Given the description of an element on the screen output the (x, y) to click on. 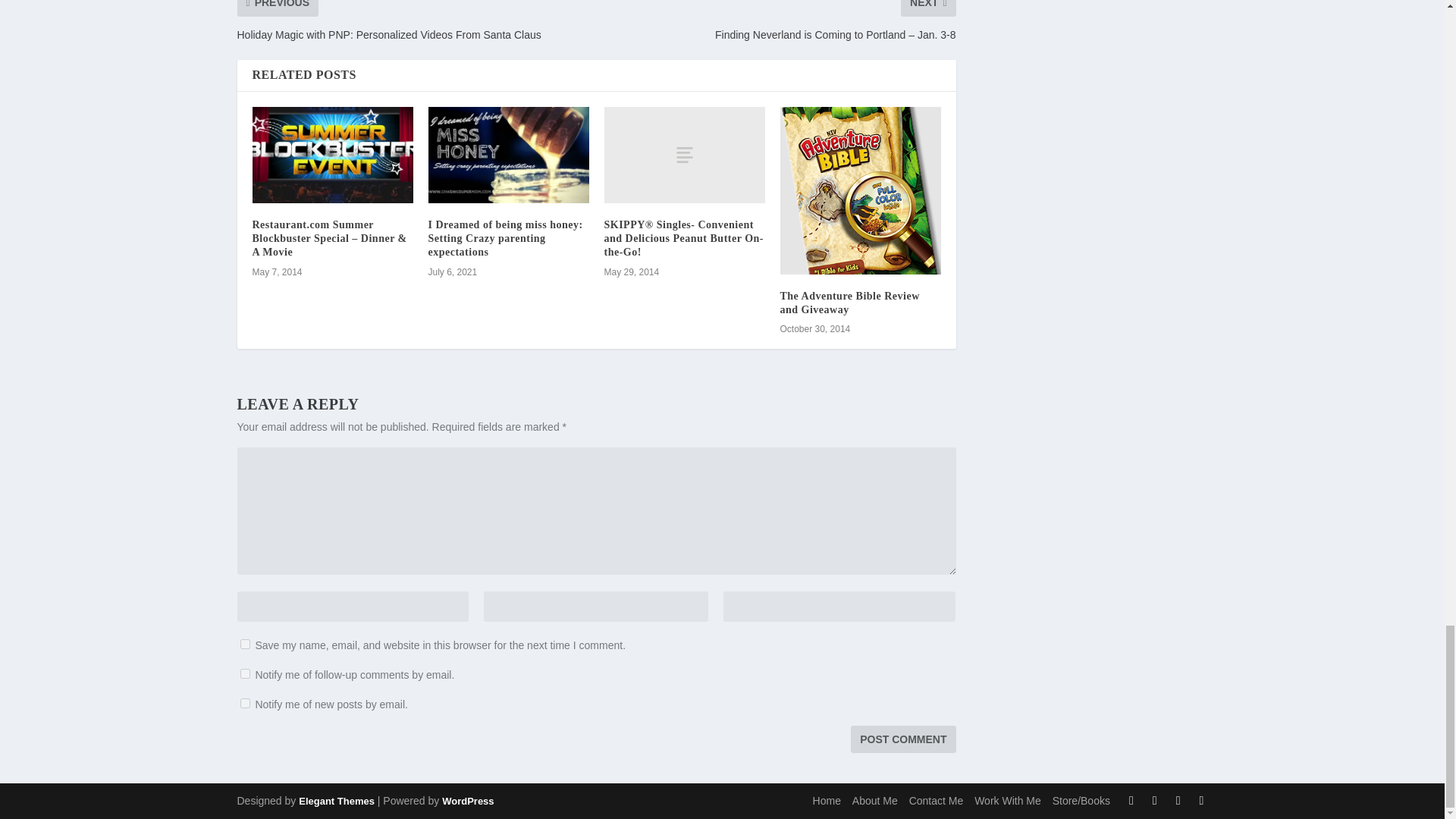
yes (244, 644)
Post Comment (902, 738)
subscribe (244, 673)
subscribe (244, 703)
